Given the description of an element on the screen output the (x, y) to click on. 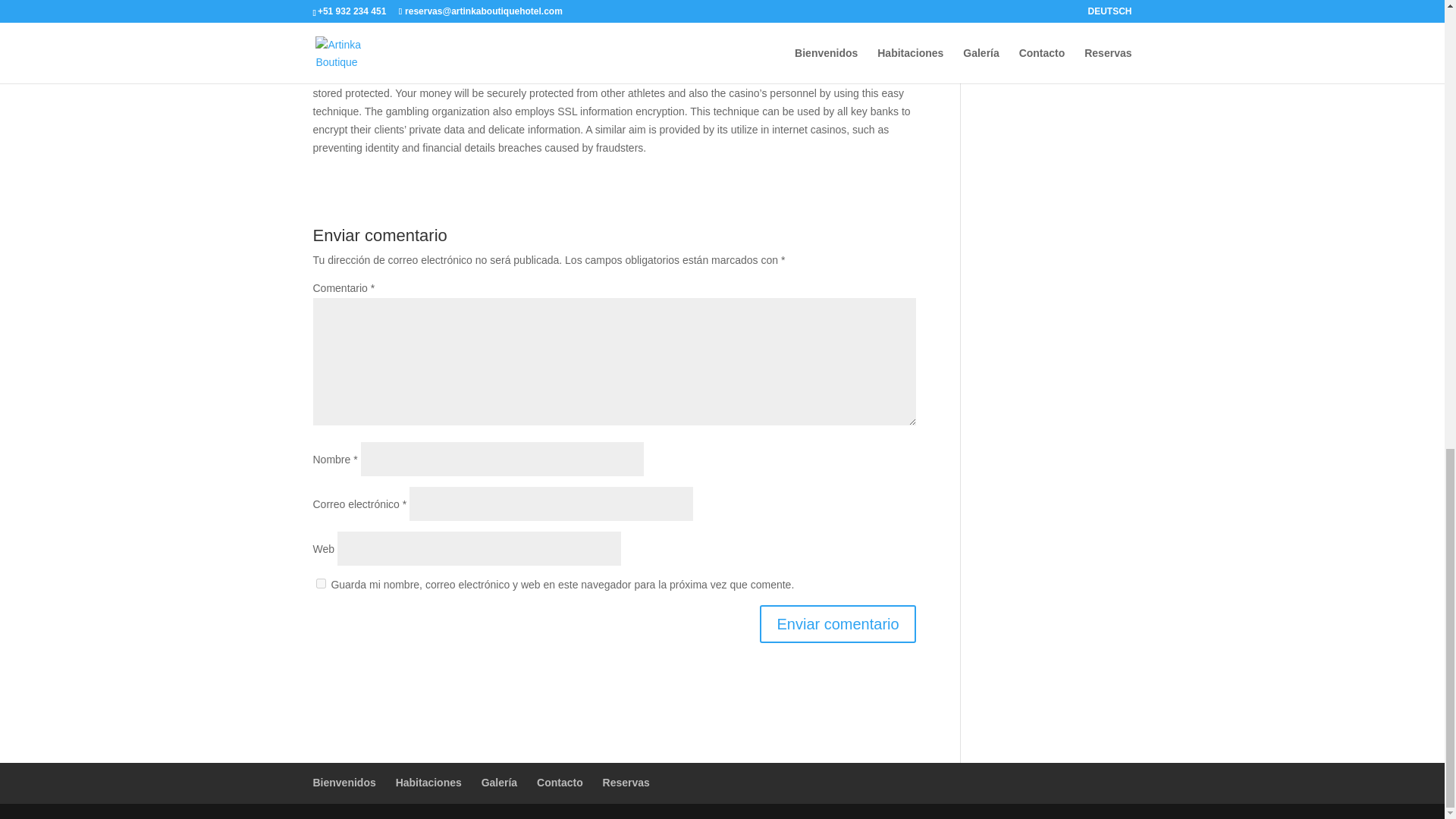
Enviar comentario (837, 623)
yes (319, 583)
Contacto (560, 782)
Bienvenidos (344, 782)
Habitaciones (428, 782)
Enviar comentario (837, 623)
Reservas (625, 782)
